Given the description of an element on the screen output the (x, y) to click on. 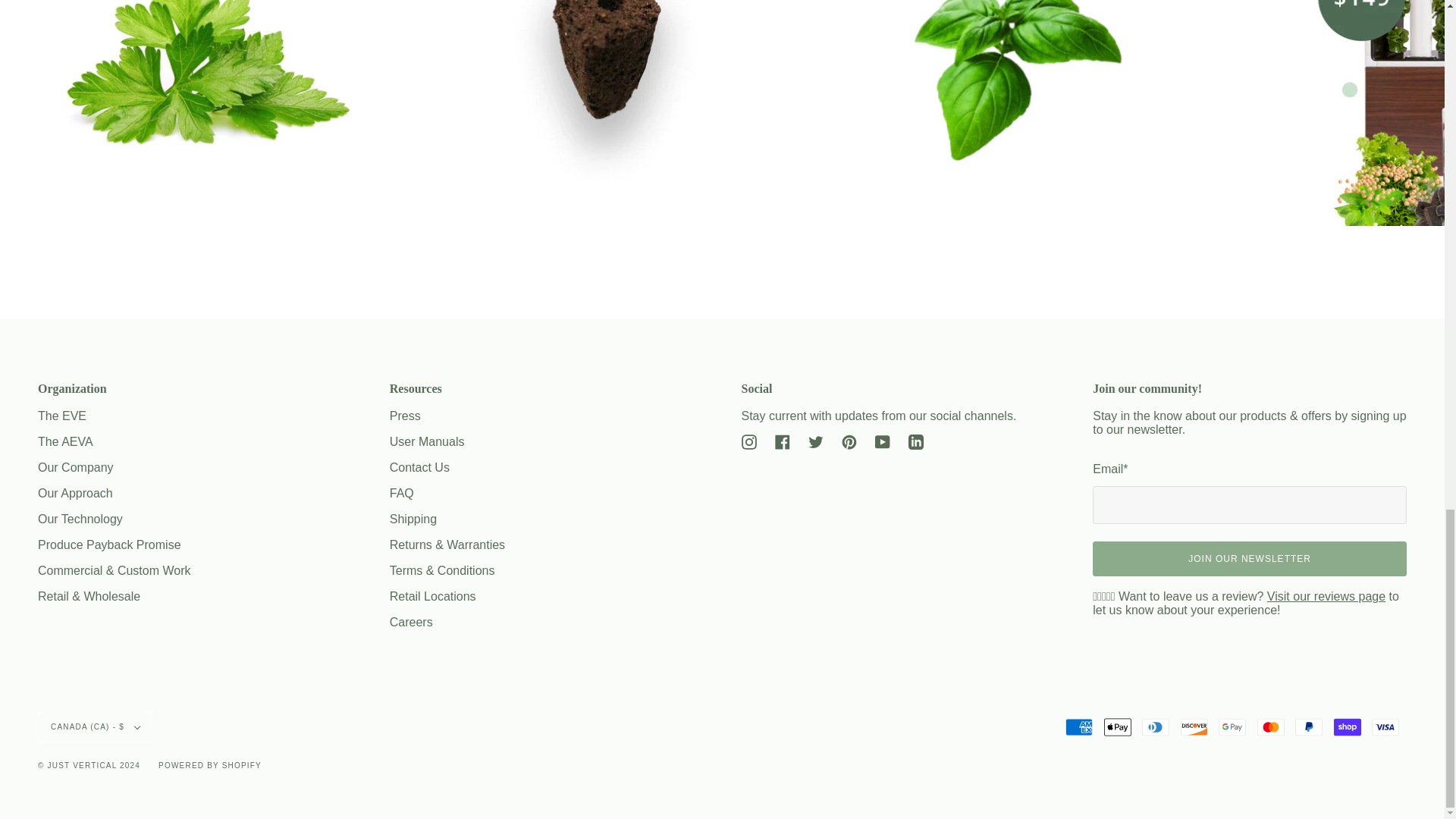
Just Vertical on Instagram (749, 440)
Just Vertical on Linkedin (915, 440)
Mastercard (1270, 727)
Diners Club (1155, 727)
Just Vertical on Pinterest (849, 440)
Visa (1385, 727)
PayPal (1308, 727)
JOIN OUR NEWSLETTER (1249, 558)
Just Vertical on Facebook (782, 440)
Google Pay (1232, 727)
Discover (1194, 727)
Just Vertical on Twitter (816, 440)
Shop Pay (1347, 727)
Apple Pay (1117, 727)
Just Vertical on YouTube (882, 440)
